Given the description of an element on the screen output the (x, y) to click on. 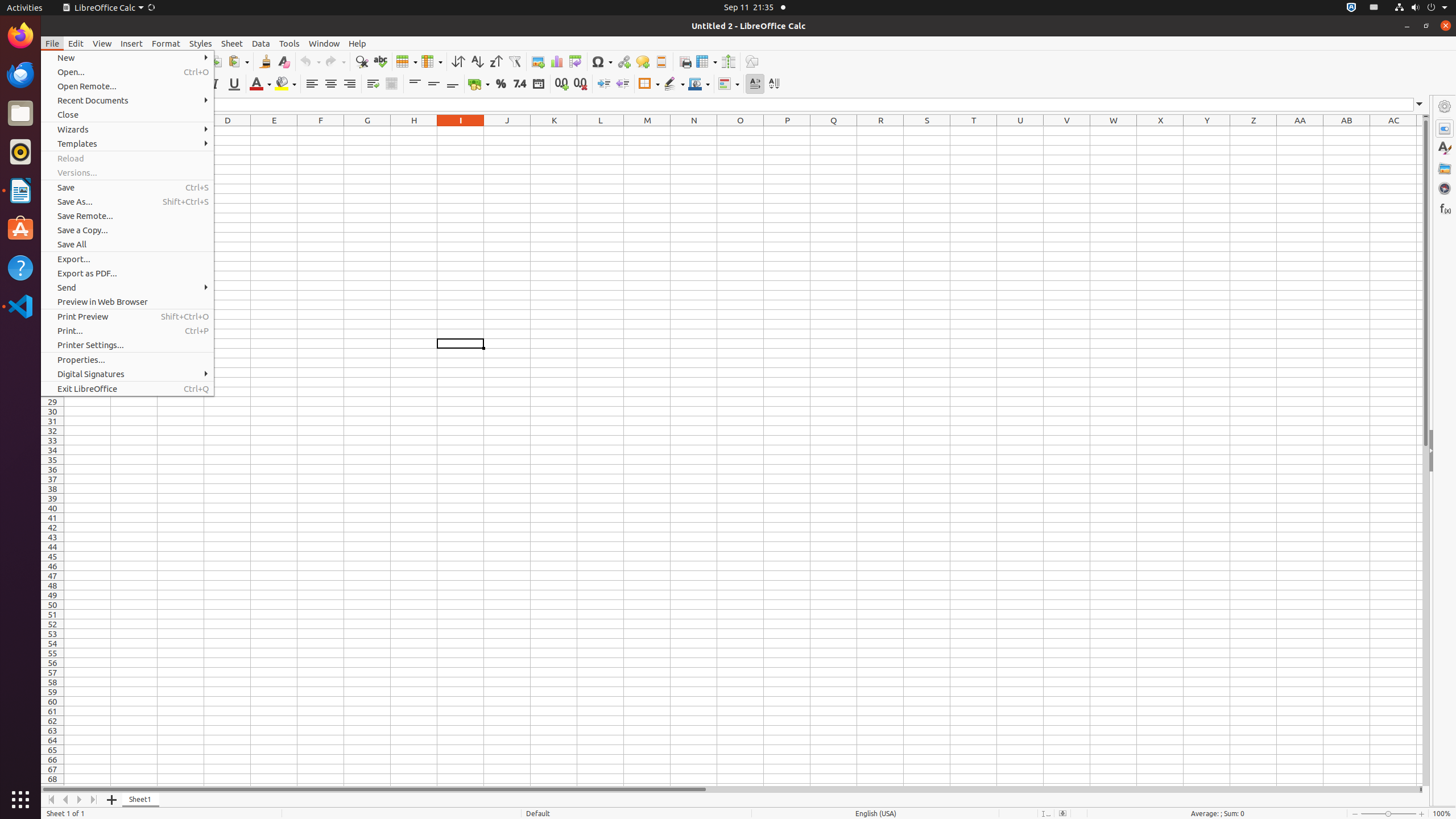
Templates Element type: menu (126, 143)
Functions Element type: radio-button (1444, 208)
Number Element type: push-button (519, 83)
U1 Element type: table-cell (1020, 130)
Tools Element type: menu (289, 43)
